Given the description of an element on the screen output the (x, y) to click on. 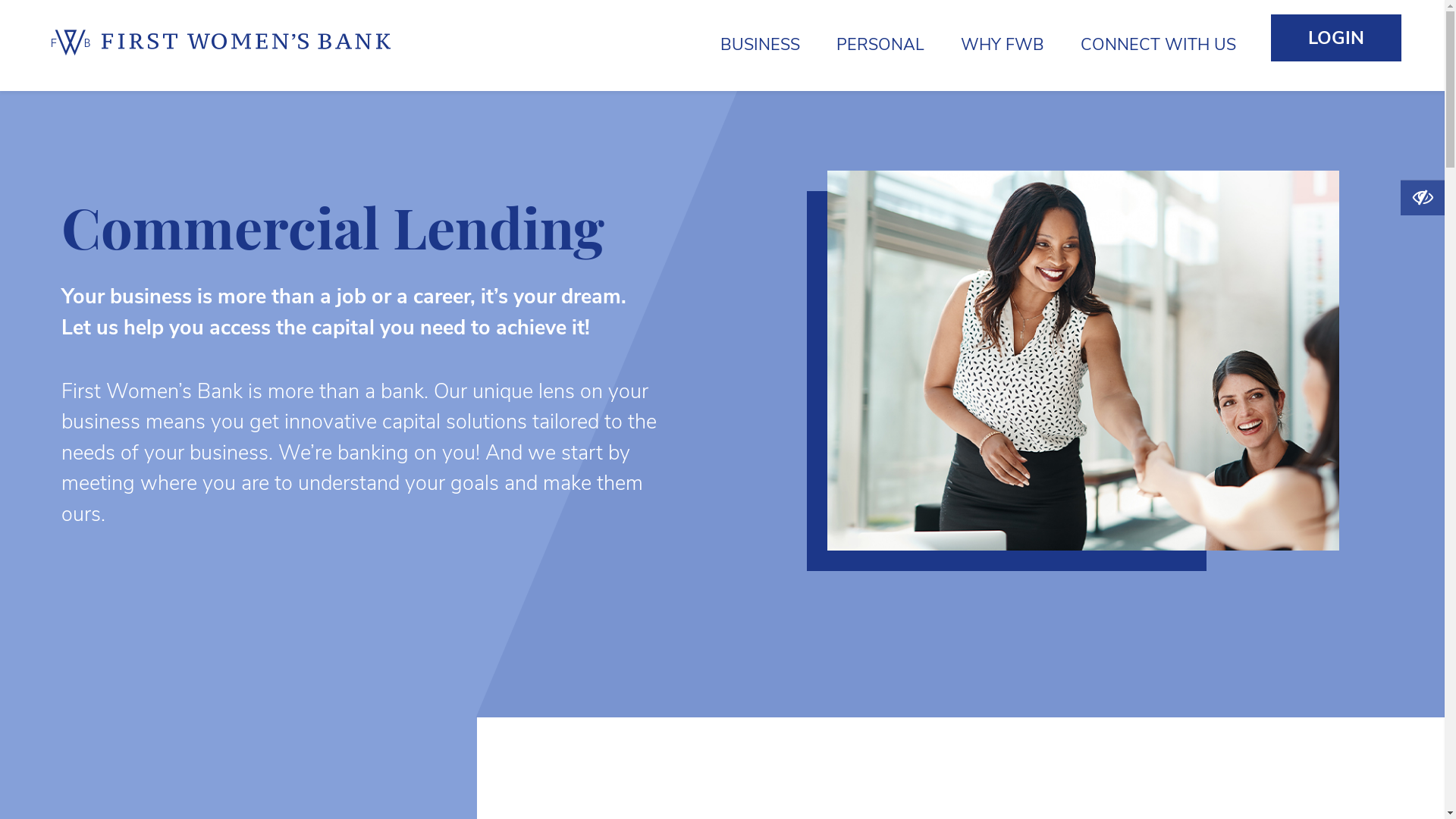
First Women's Bank Logo Element type: text (223, 45)
CONNECT WITH US Element type: text (1158, 45)
WHY FWB Element type: text (1002, 45)
Accessibility Mode Element type: text (1422, 198)
LOGIN Element type: text (1335, 37)
PERSONAL Element type: text (880, 45)
BUSINESS Element type: text (760, 45)
